Given the description of an element on the screen output the (x, y) to click on. 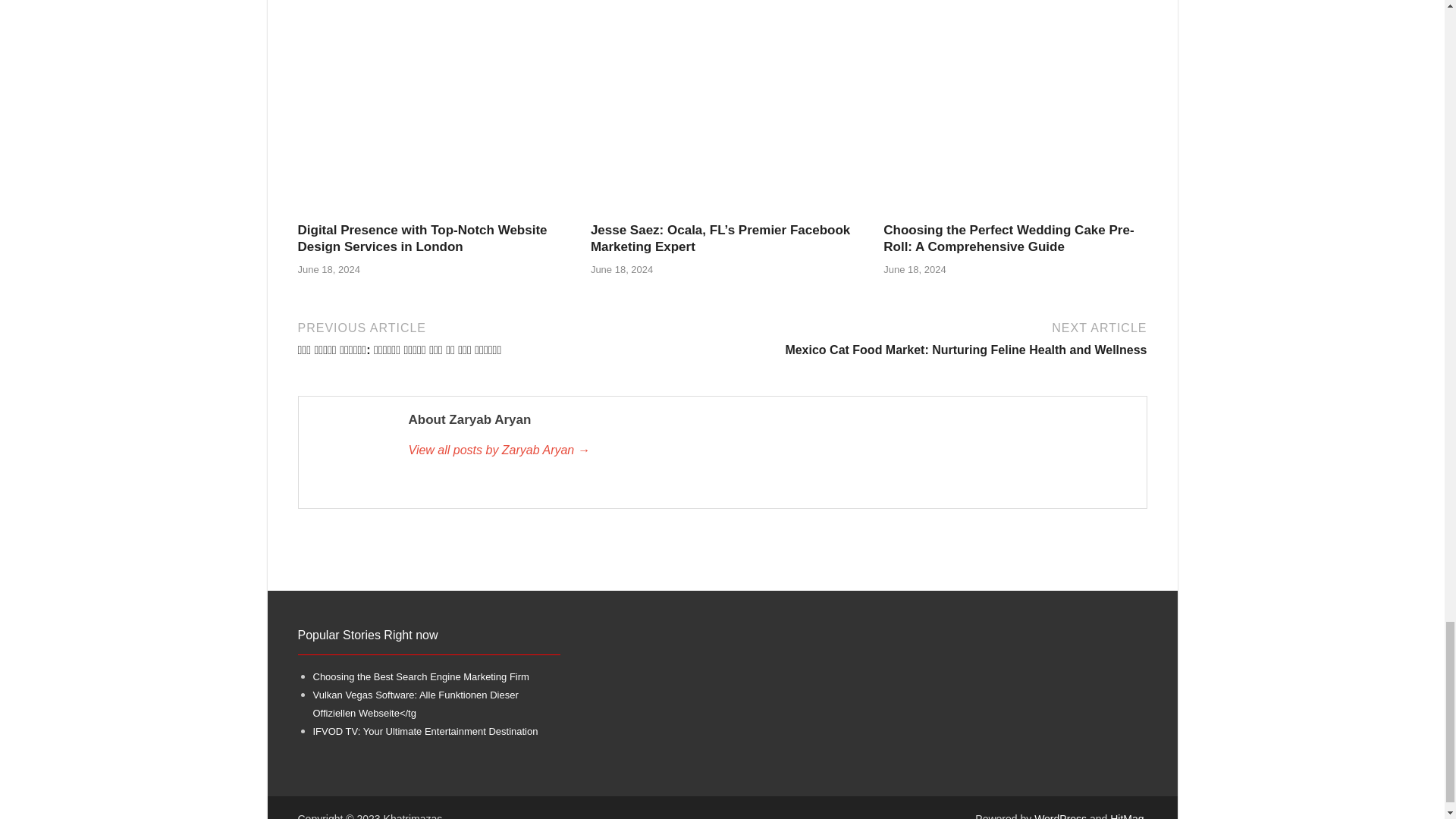
Zaryab Aryan (769, 450)
